Given the description of an element on the screen output the (x, y) to click on. 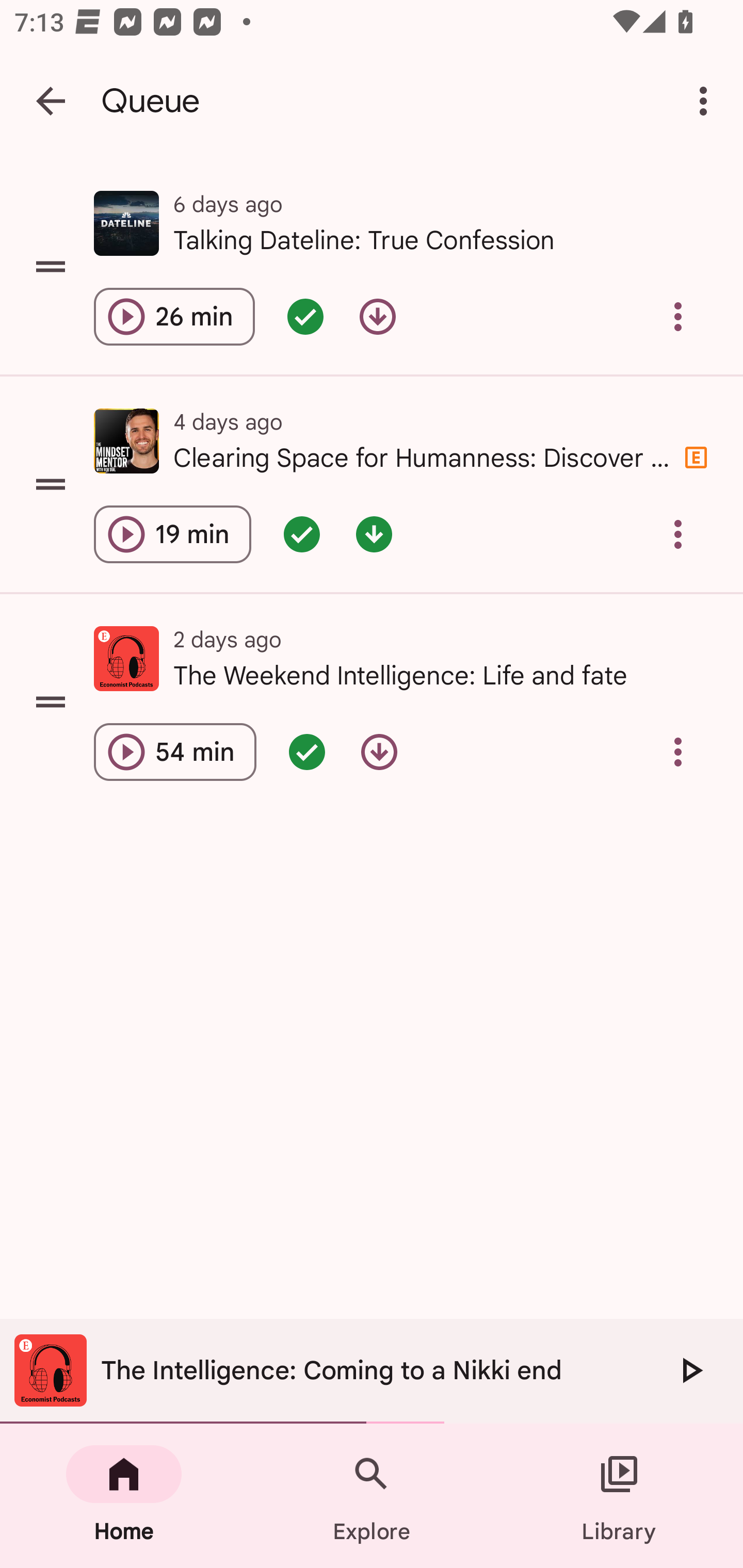
Navigate up (50, 101)
More options (706, 101)
Episode queued - double tap for options (304, 316)
Download episode (377, 316)
Overflow menu (677, 316)
Episode queued - double tap for options (301, 533)
Episode downloaded - double tap for options (374, 533)
Overflow menu (677, 533)
Episode queued - double tap for options (307, 751)
Download episode (379, 751)
Overflow menu (677, 751)
Play (690, 1370)
Explore (371, 1495)
Library (619, 1495)
